Given the description of an element on the screen output the (x, y) to click on. 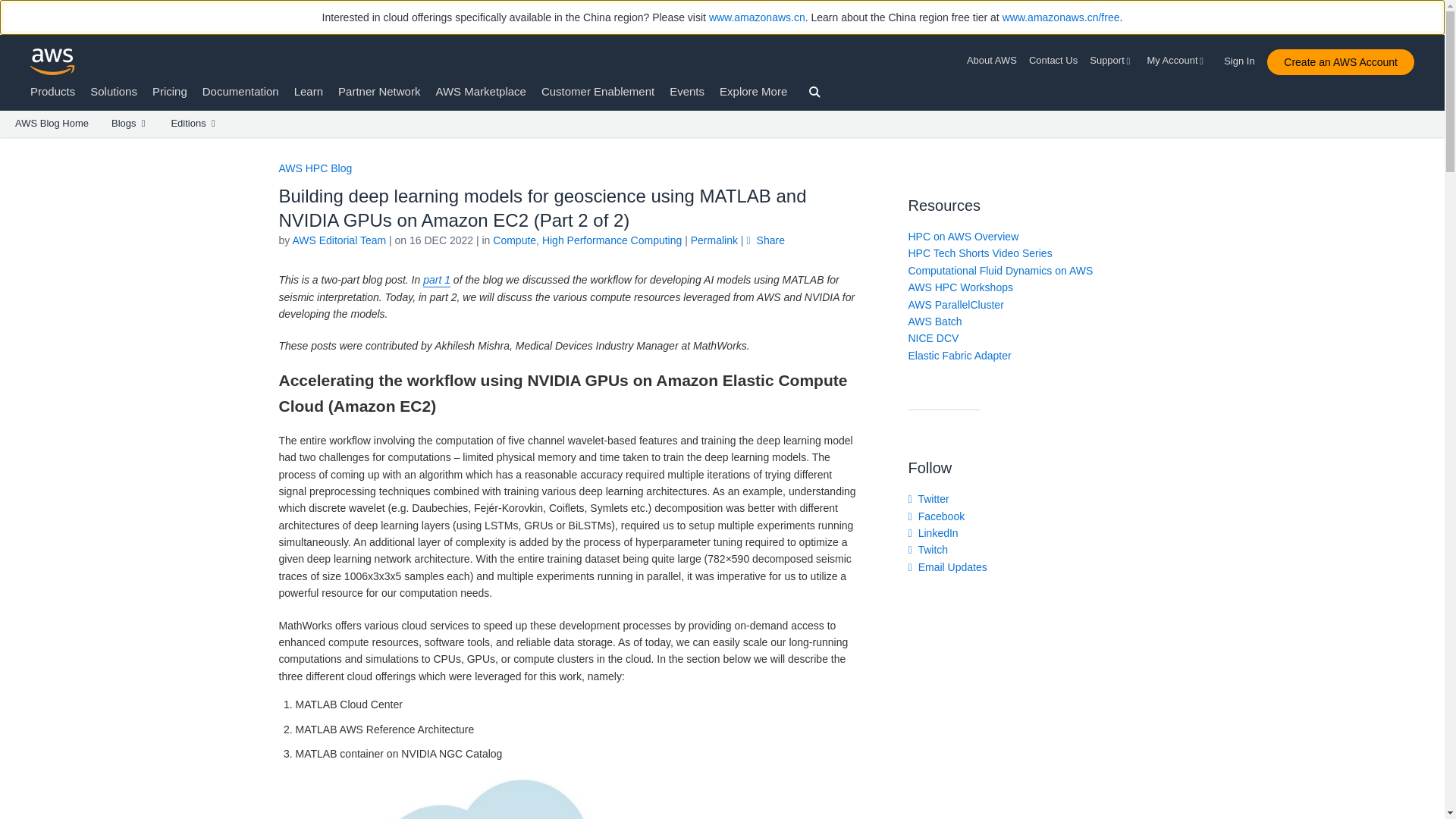
Customer Enablement (597, 91)
Contact Us (1053, 60)
Learn (308, 91)
Pricing (169, 91)
www.amazonaws.cn (757, 17)
Solutions (113, 91)
AWS Marketplace (480, 91)
Partner Network (378, 91)
View all posts in High Performance Computing (611, 240)
Skip to Main Content (7, 143)
